Given the description of an element on the screen output the (x, y) to click on. 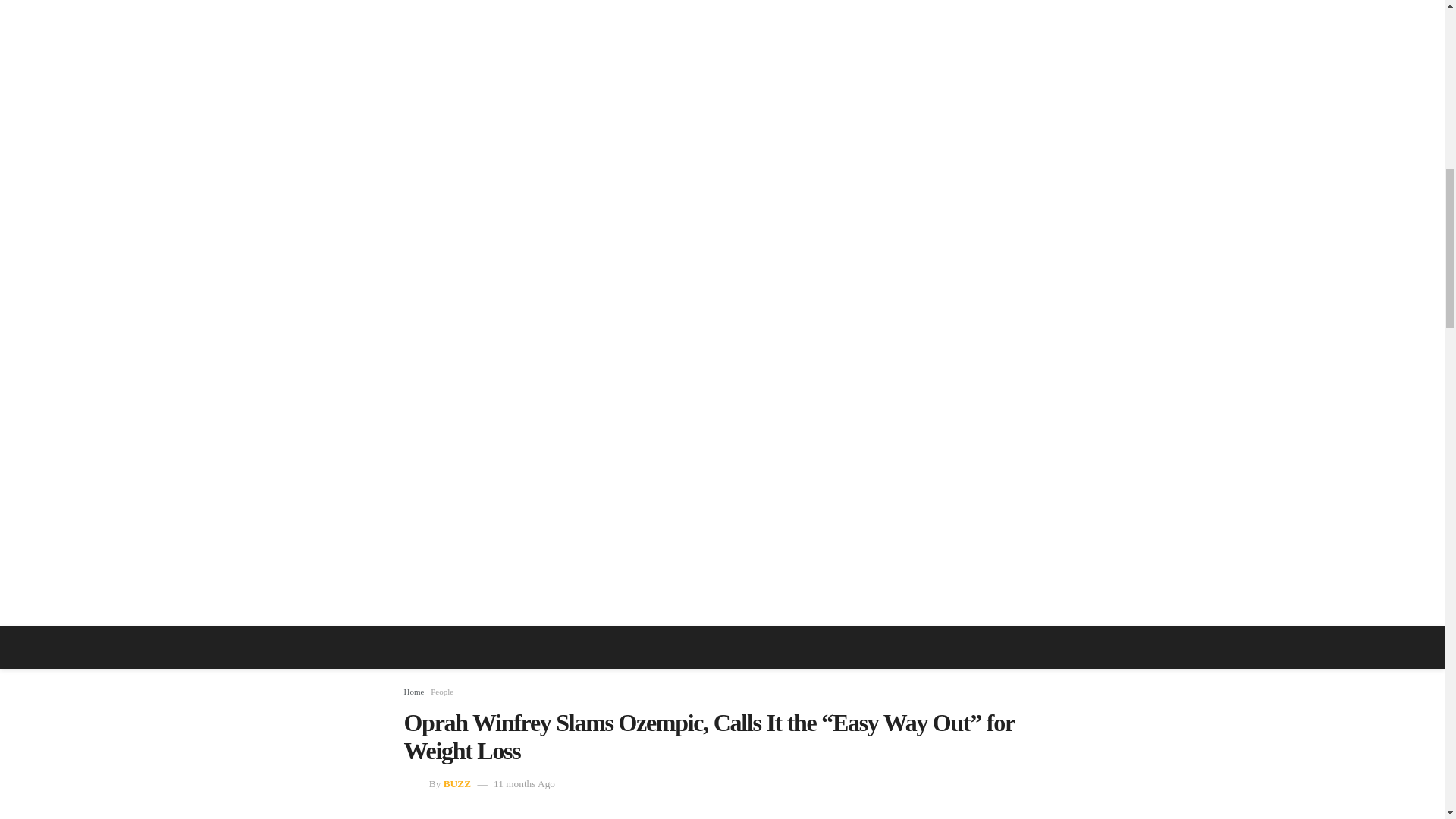
People (441, 691)
BUZZ (457, 783)
Home (413, 691)
